Given the description of an element on the screen output the (x, y) to click on. 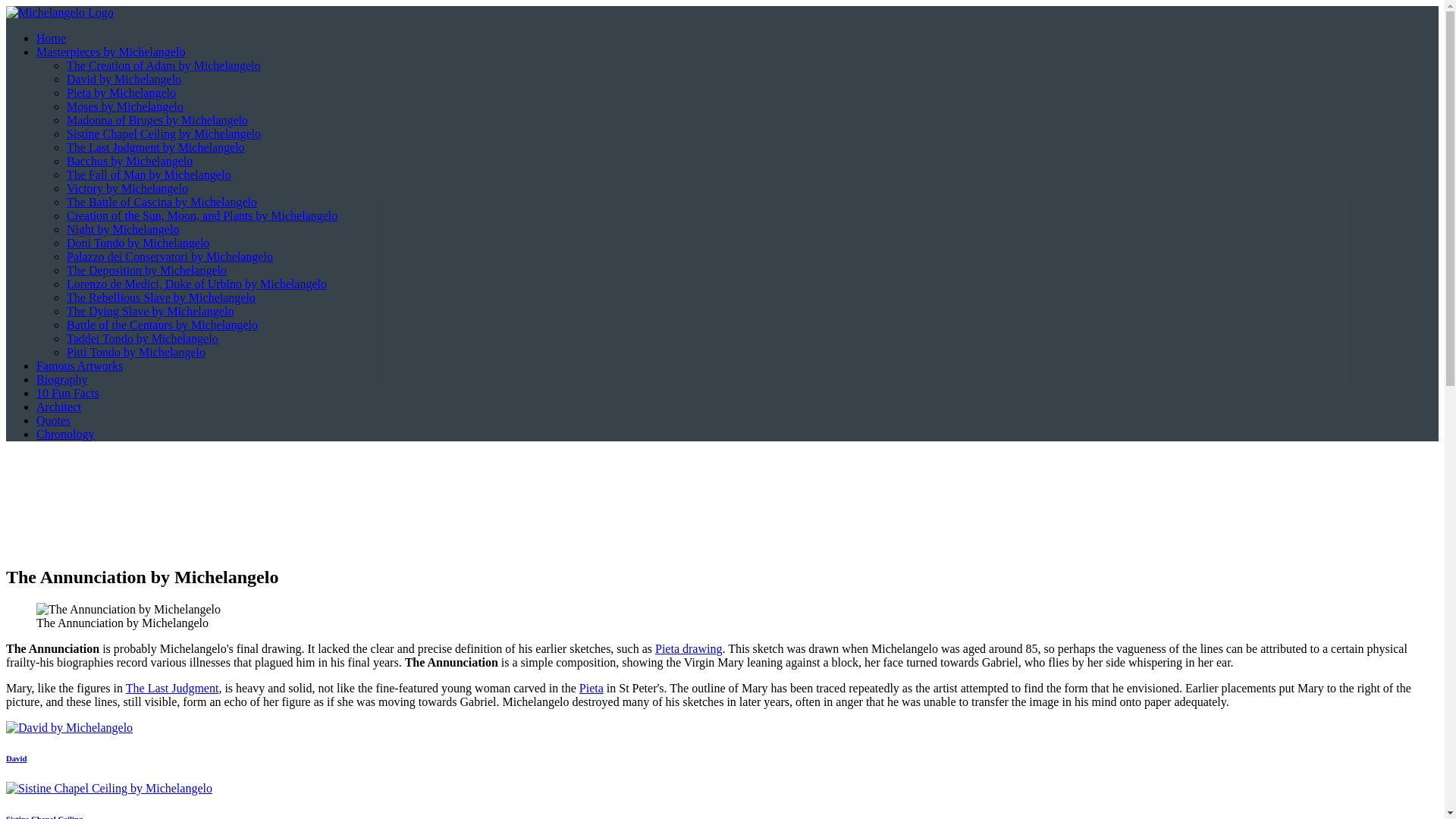
The Last Judgment by Michelangelo (155, 146)
Palazzo dei Conservatori by Michelangelo (169, 256)
Architect (58, 406)
The Last Judgment (172, 687)
Taddei Tondo by Michelangelo (142, 338)
Lorenzo de Medici, Duke of Urbino by Michelangelo (196, 283)
Bacchus by Michelangelo (129, 160)
The Fall of Man by Michelangelo (148, 174)
Pieta by Michelangelo (121, 92)
10 Fun Facts (67, 392)
